Given the description of an element on the screen output the (x, y) to click on. 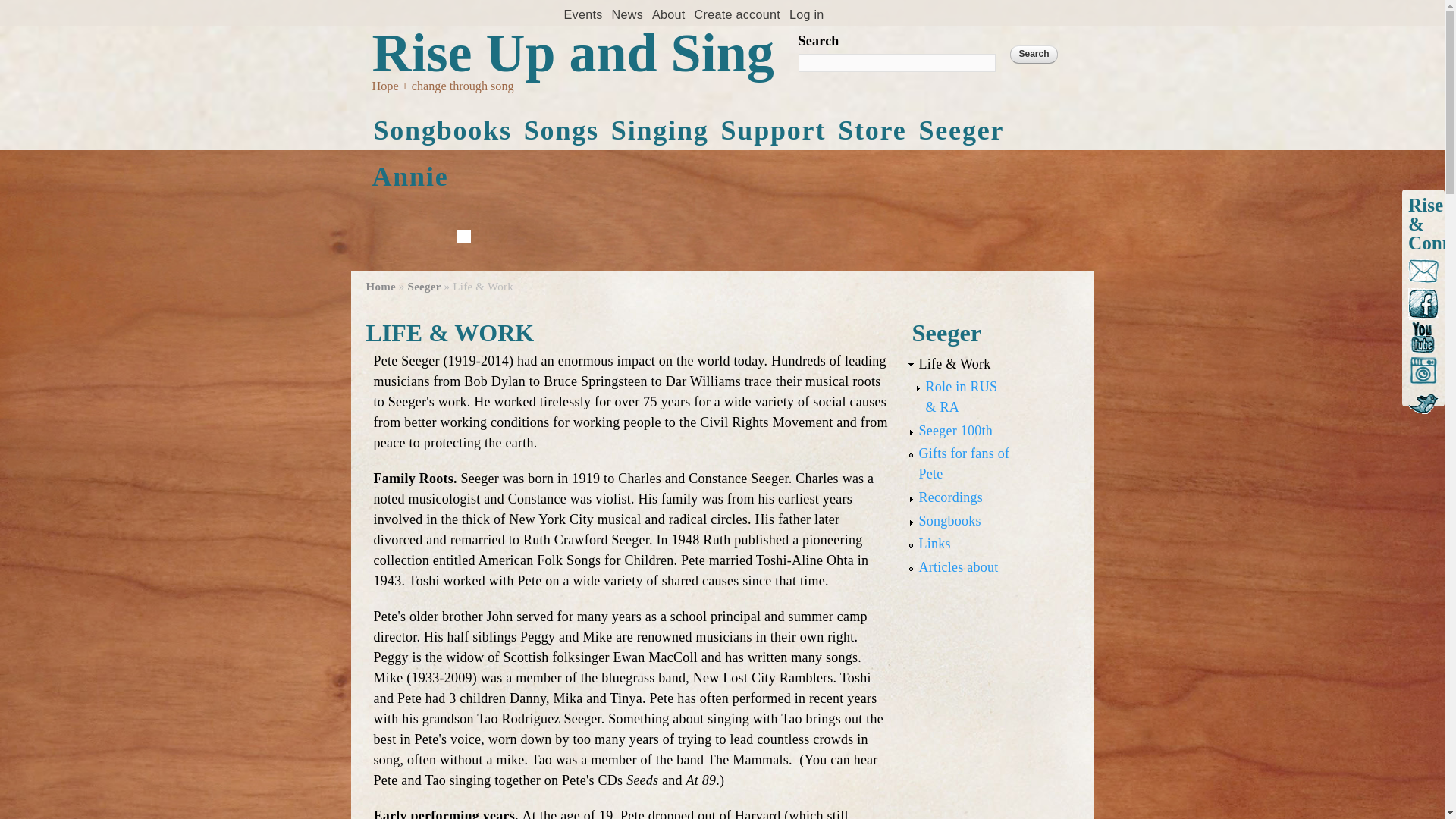
Home (572, 52)
Articles about (958, 566)
Annie (409, 176)
Search (1033, 54)
News (627, 14)
Log in (806, 14)
Songbooks (949, 520)
Seeger 100th (955, 430)
Events (583, 14)
Seeger (961, 129)
Skip to main content (678, 1)
Singing (660, 129)
Follow us on Twitter (1422, 404)
Links (934, 543)
Get Involved (773, 129)
